Given the description of an element on the screen output the (x, y) to click on. 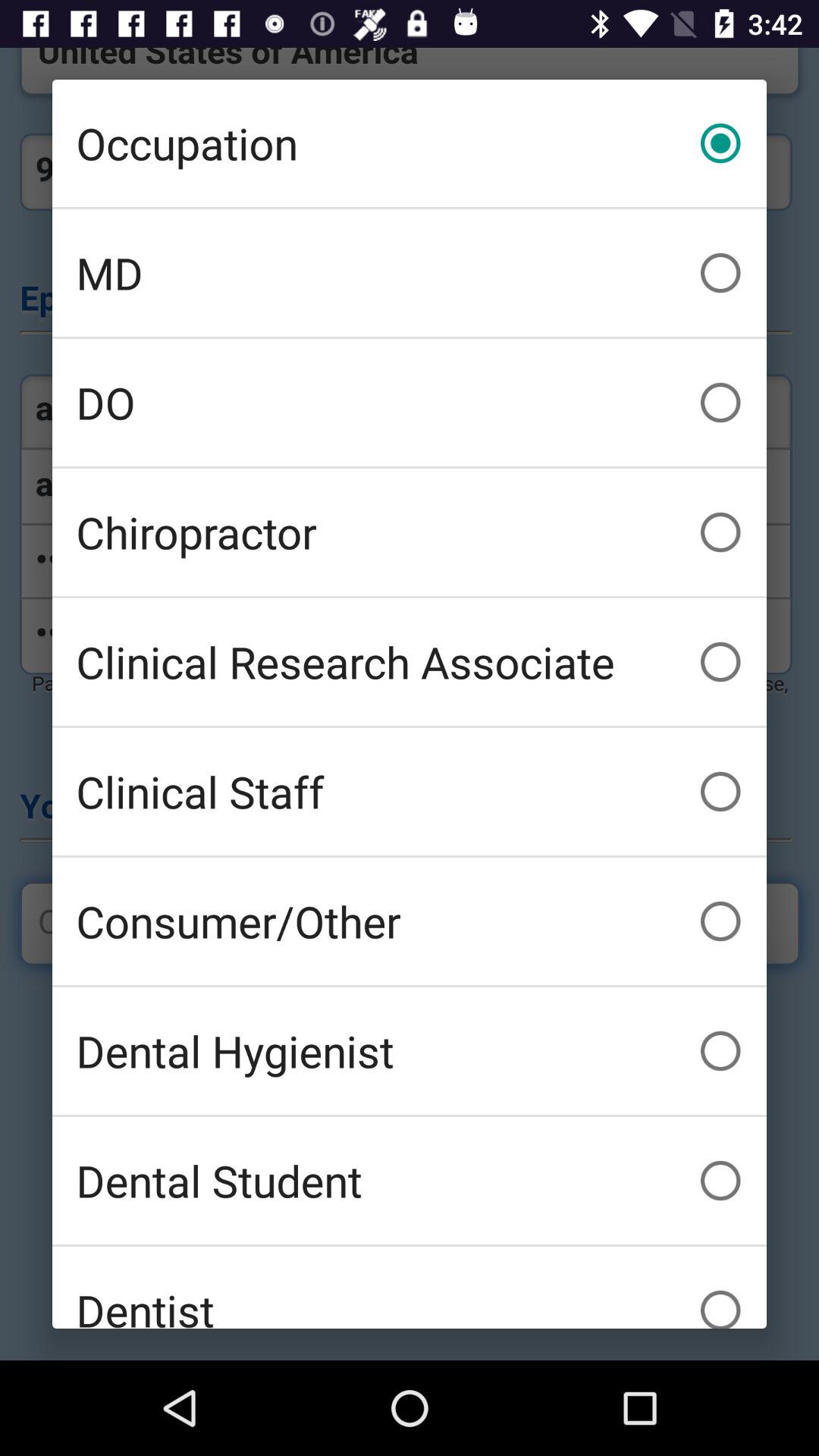
launch the icon below the chiropractor icon (409, 661)
